Given the description of an element on the screen output the (x, y) to click on. 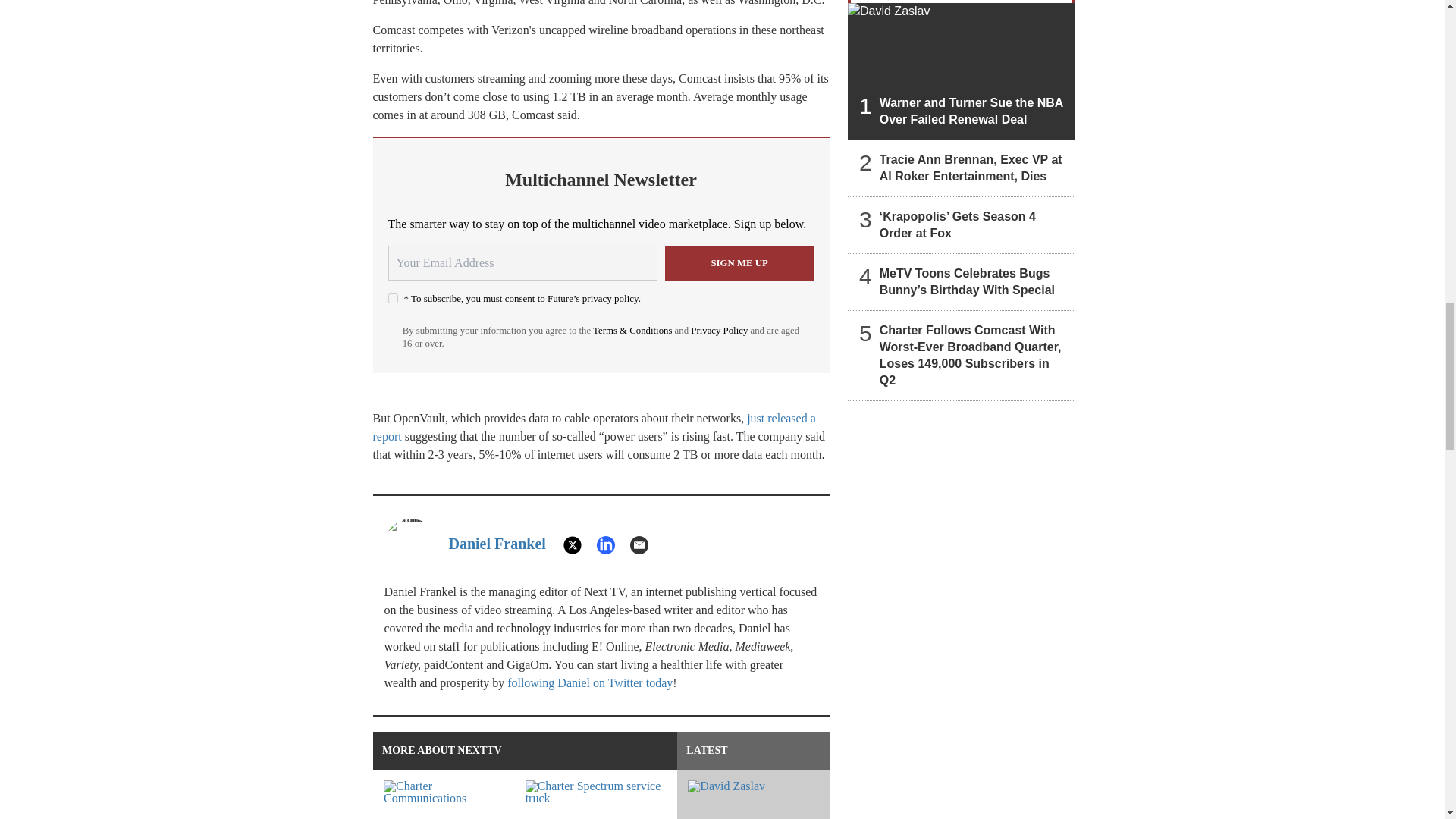
just released a report (593, 427)
Sign me up (739, 262)
on (392, 298)
Daniel Frankel (497, 543)
Privacy Policy (719, 330)
Sign me up (739, 262)
Warner and Turner Sue the NBA Over Failed Renewal Deal (961, 71)
